Given the description of an element on the screen output the (x, y) to click on. 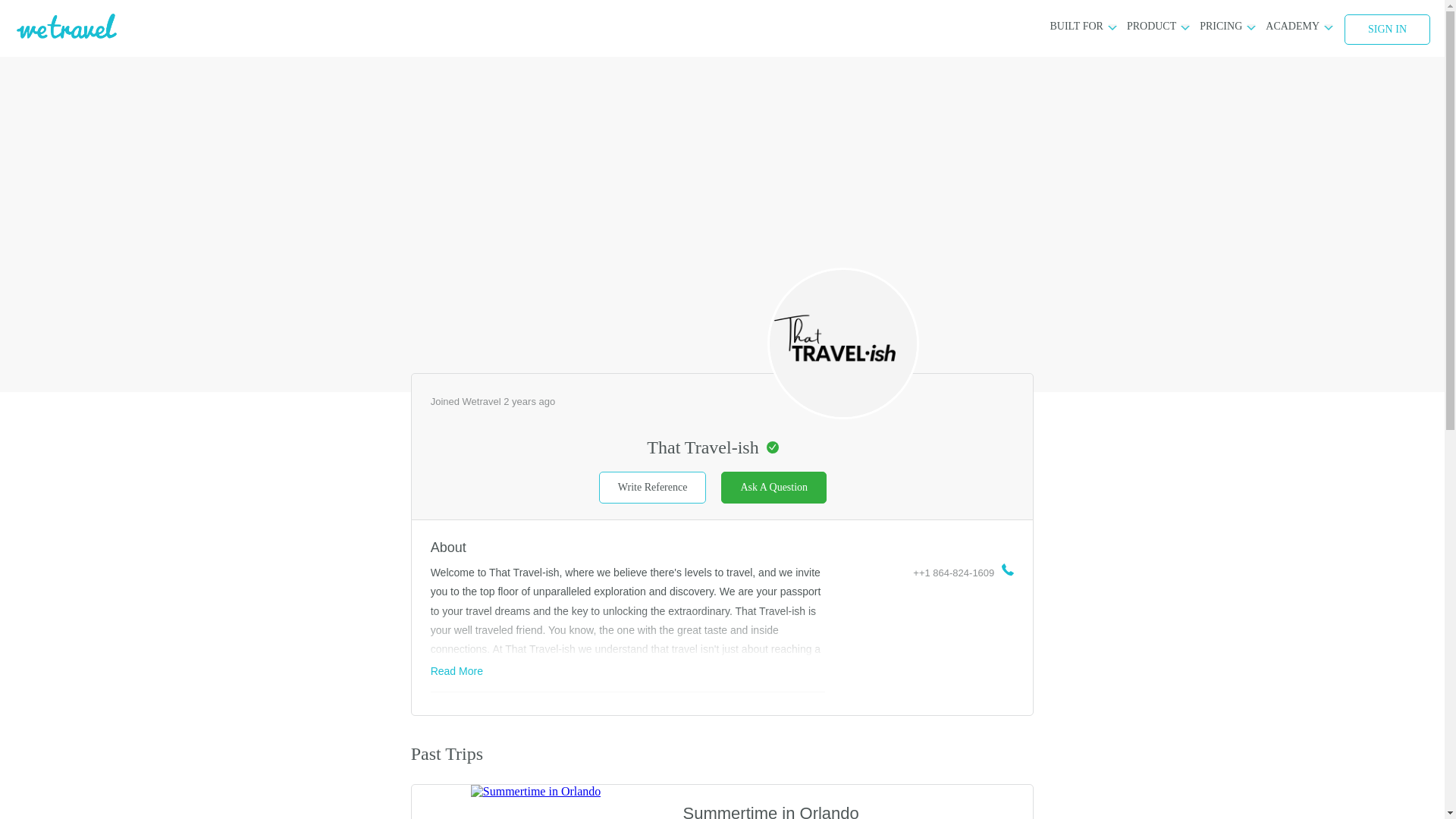
BUILT FOR (1075, 26)
PRICING (1220, 26)
PRODUCT (1151, 26)
SIGN IN (1386, 29)
ACADEMY (1292, 26)
